Given the description of an element on the screen output the (x, y) to click on. 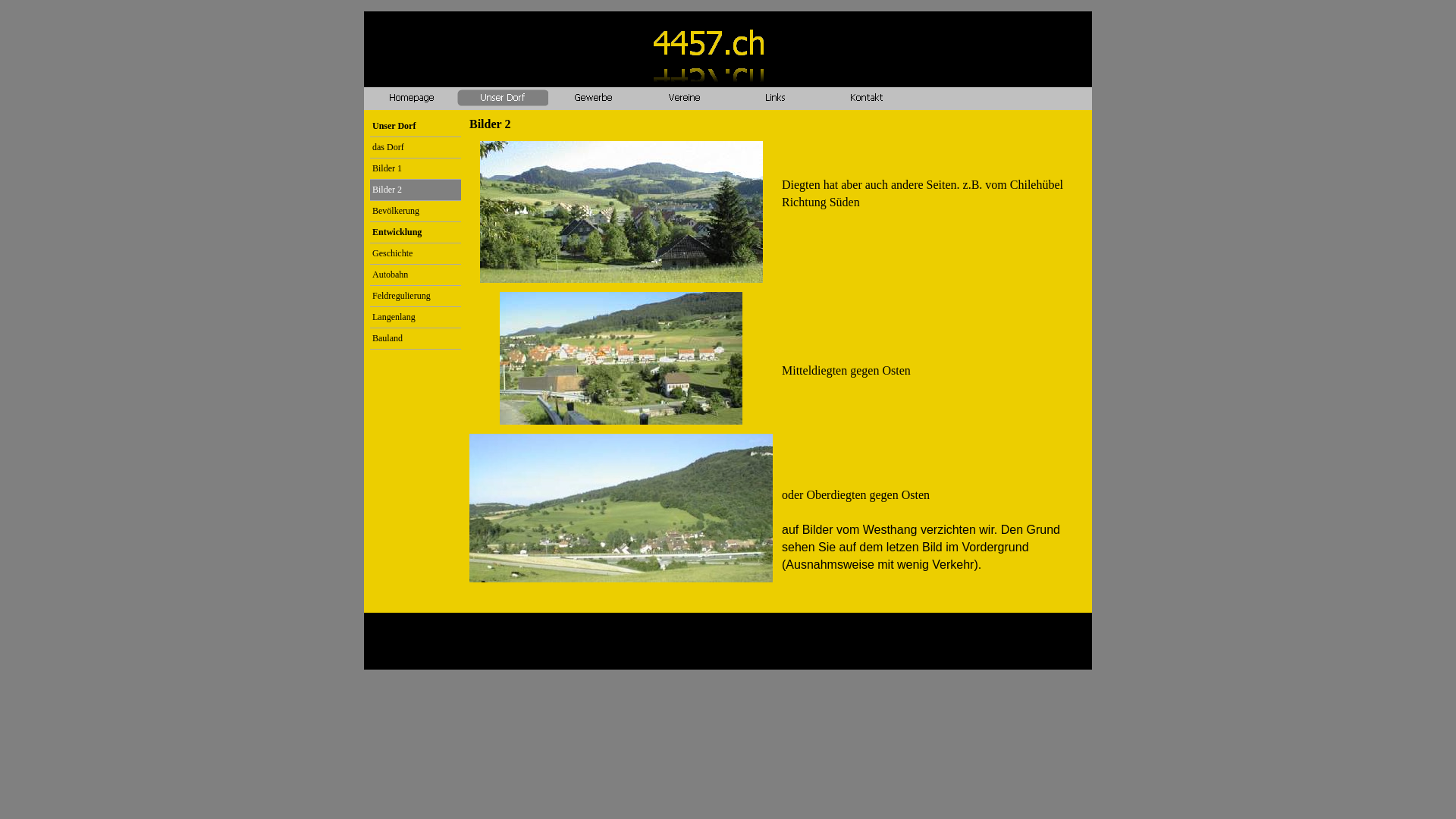
Geschichte Element type: text (415, 253)
das Dorf Element type: text (415, 147)
Bilder 1 Element type: text (415, 168)
Autobahn Element type: text (415, 274)
Diegten 1970 Element type: hover (620, 211)
Diegten im Jahre 2000 Element type: hover (620, 507)
Langenlang Element type: text (415, 317)
Feldregulierung Element type: text (415, 295)
Bilder 2 Element type: text (415, 189)
Bauland Element type: text (415, 338)
